Given the description of an element on the screen output the (x, y) to click on. 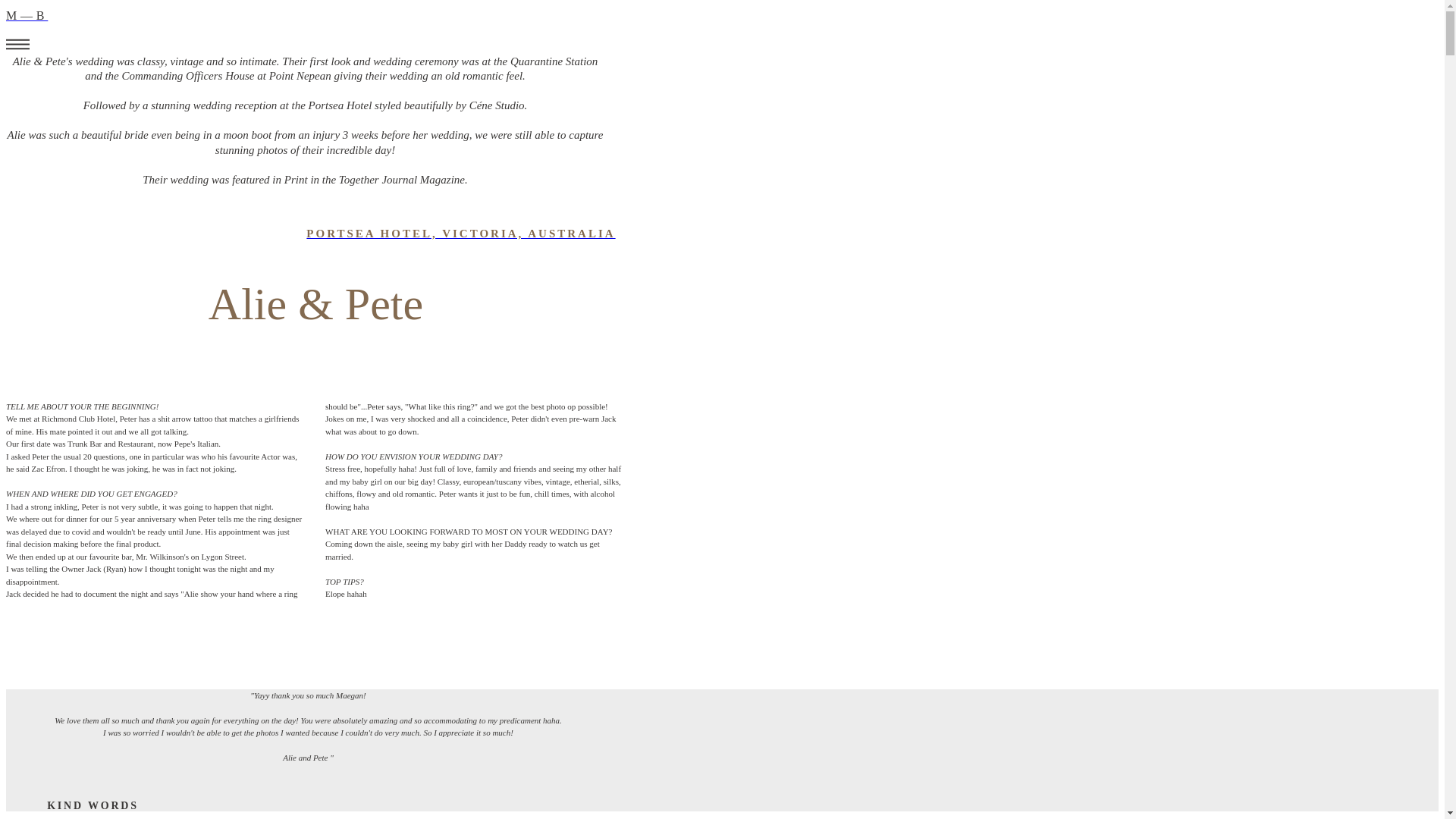
PORTSEA HOTEL, VICTORIA, AUSTRALIA (460, 234)
